Given the description of an element on the screen output the (x, y) to click on. 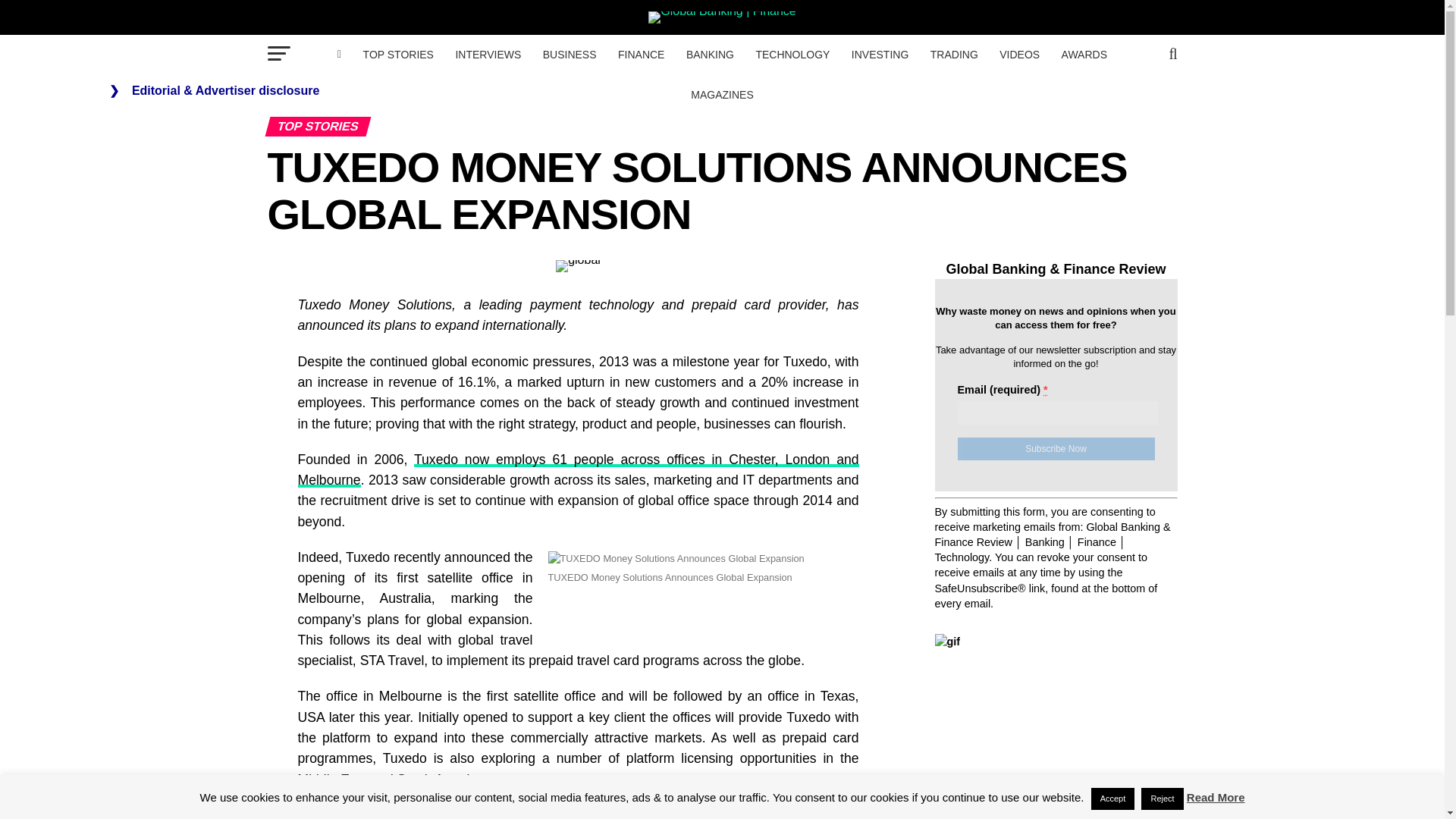
Subscribe Now (1055, 448)
Top Stories (397, 54)
Business (569, 54)
Subscribe Now (1055, 448)
TOP STORIES (397, 54)
Finance (640, 54)
INVESTING (880, 54)
MAGAZINES (721, 94)
INTERVIEWS (487, 54)
Interviews (487, 54)
Banking (709, 54)
BANKING (709, 54)
FINANCE (640, 54)
AWARDS (1084, 54)
